Given the description of an element on the screen output the (x, y) to click on. 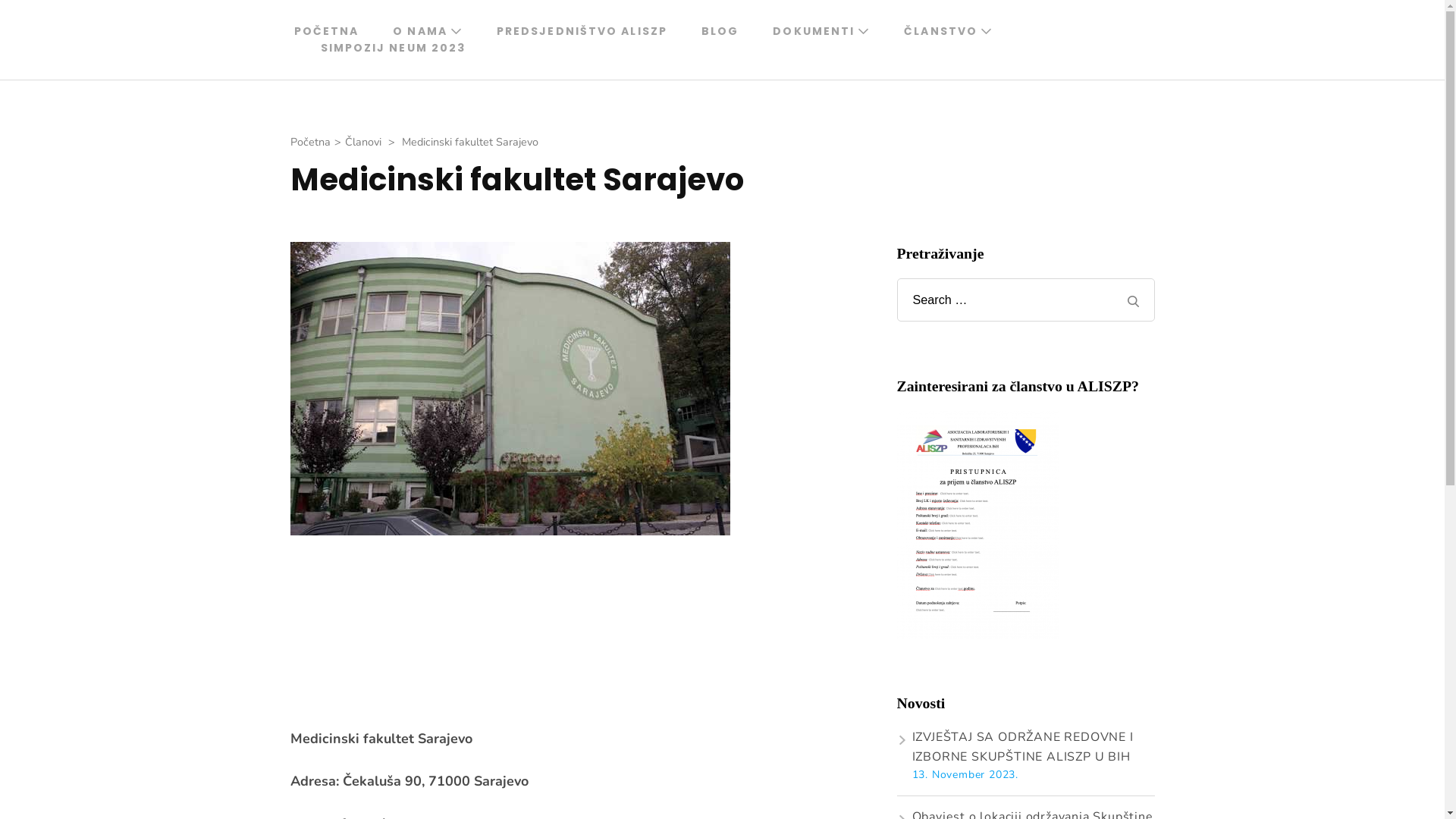
O NAMA Element type: text (420, 30)
BLOG Element type: text (719, 30)
SIMPOZIJ NEUM 2023 Element type: text (393, 47)
DOKUMENTI Element type: text (813, 30)
Search Element type: text (1132, 301)
